Given the description of an element on the screen output the (x, y) to click on. 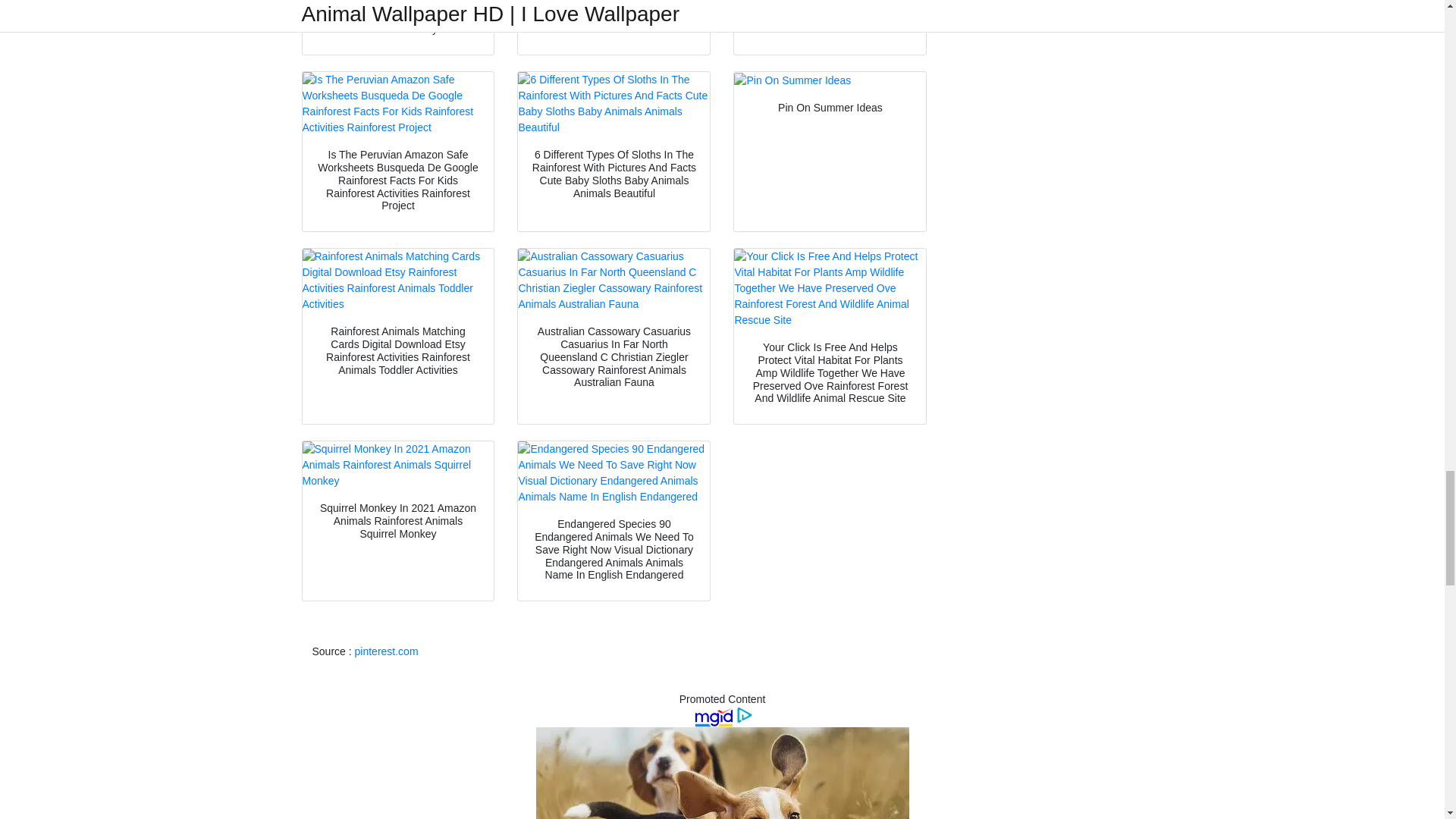
pinterest.com (387, 651)
